Given the description of an element on the screen output the (x, y) to click on. 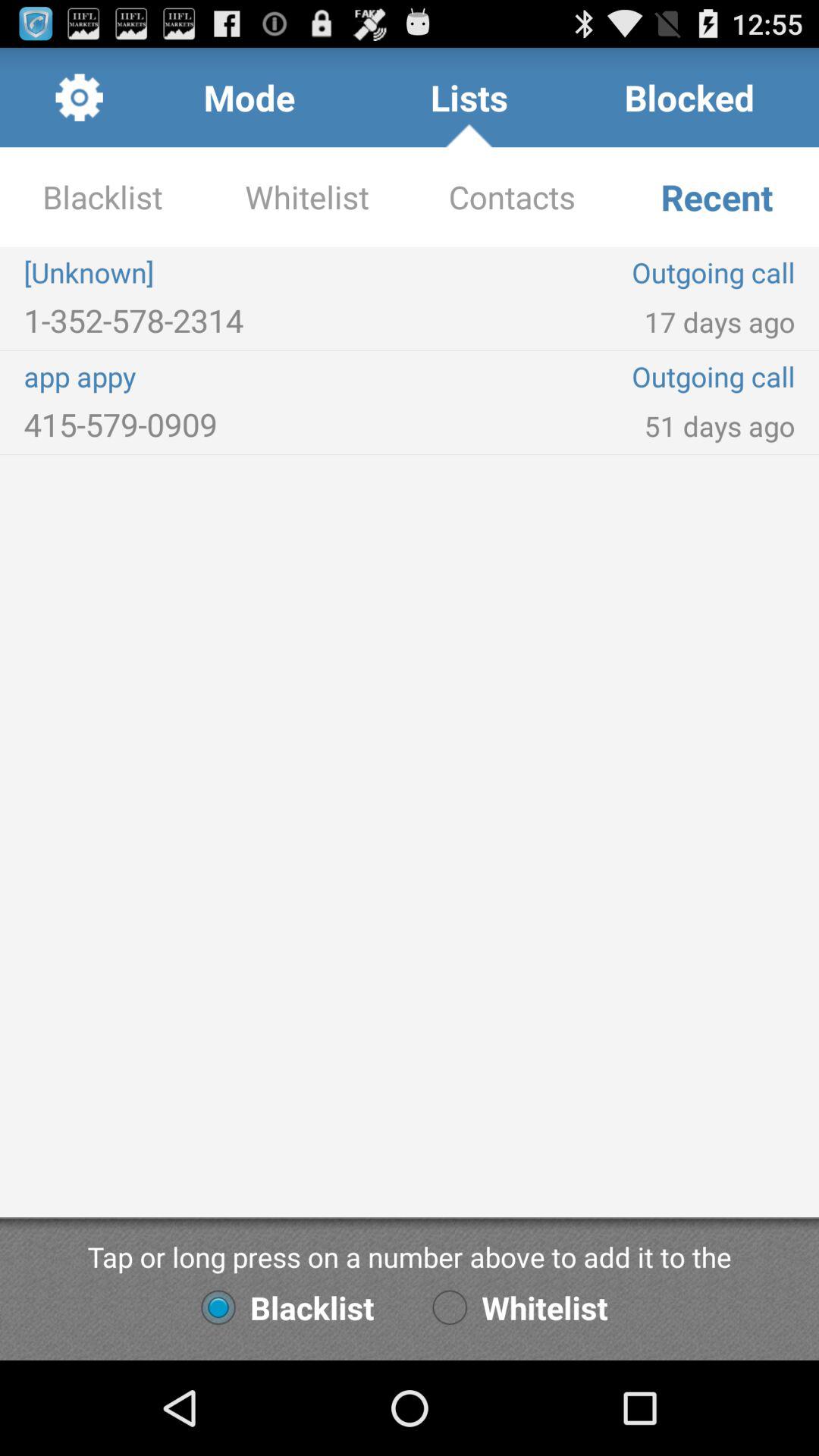
choose the icon to the left of the outgoing call (216, 319)
